Given the description of an element on the screen output the (x, y) to click on. 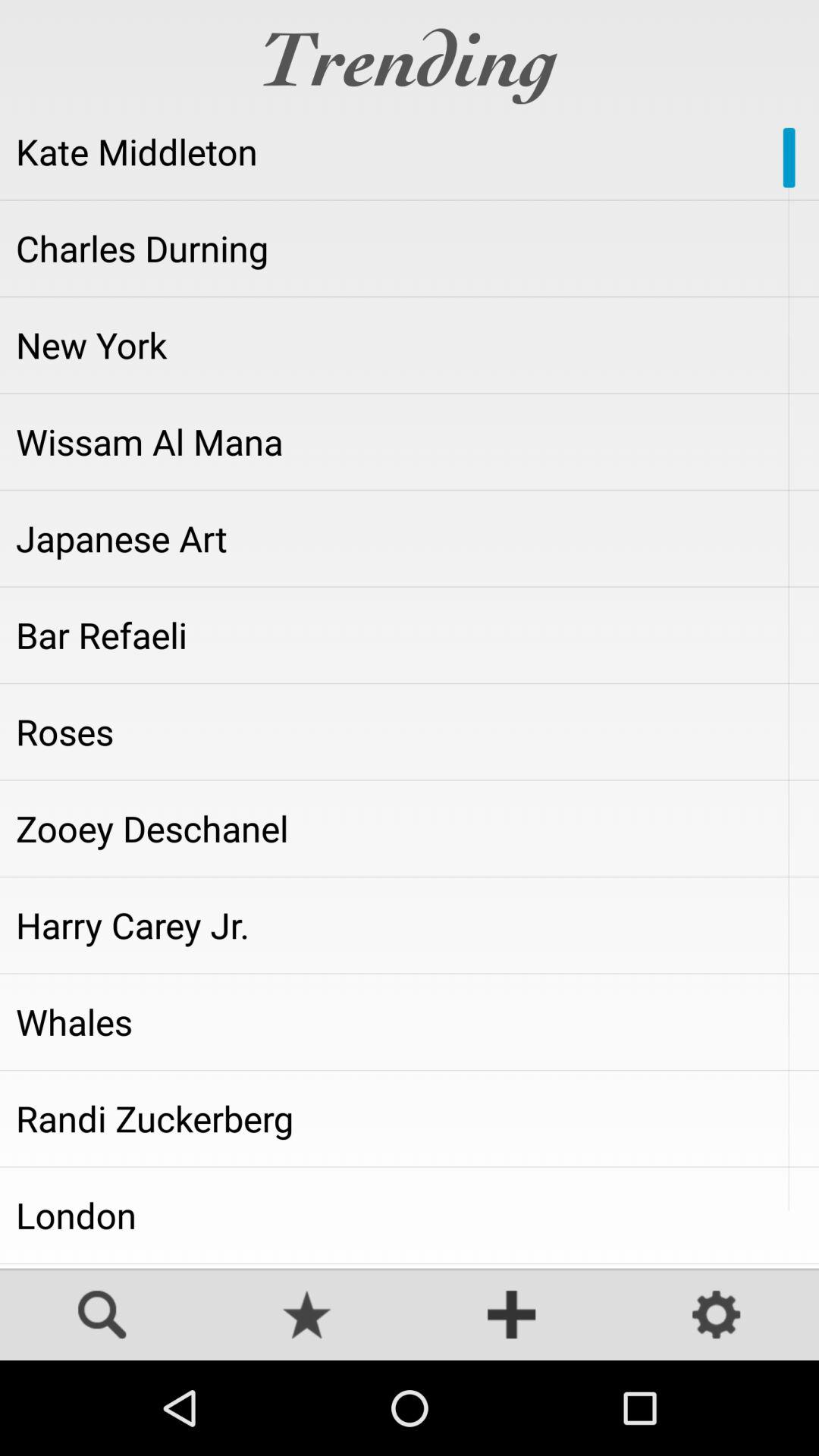
show more (511, 1316)
